Given the description of an element on the screen output the (x, y) to click on. 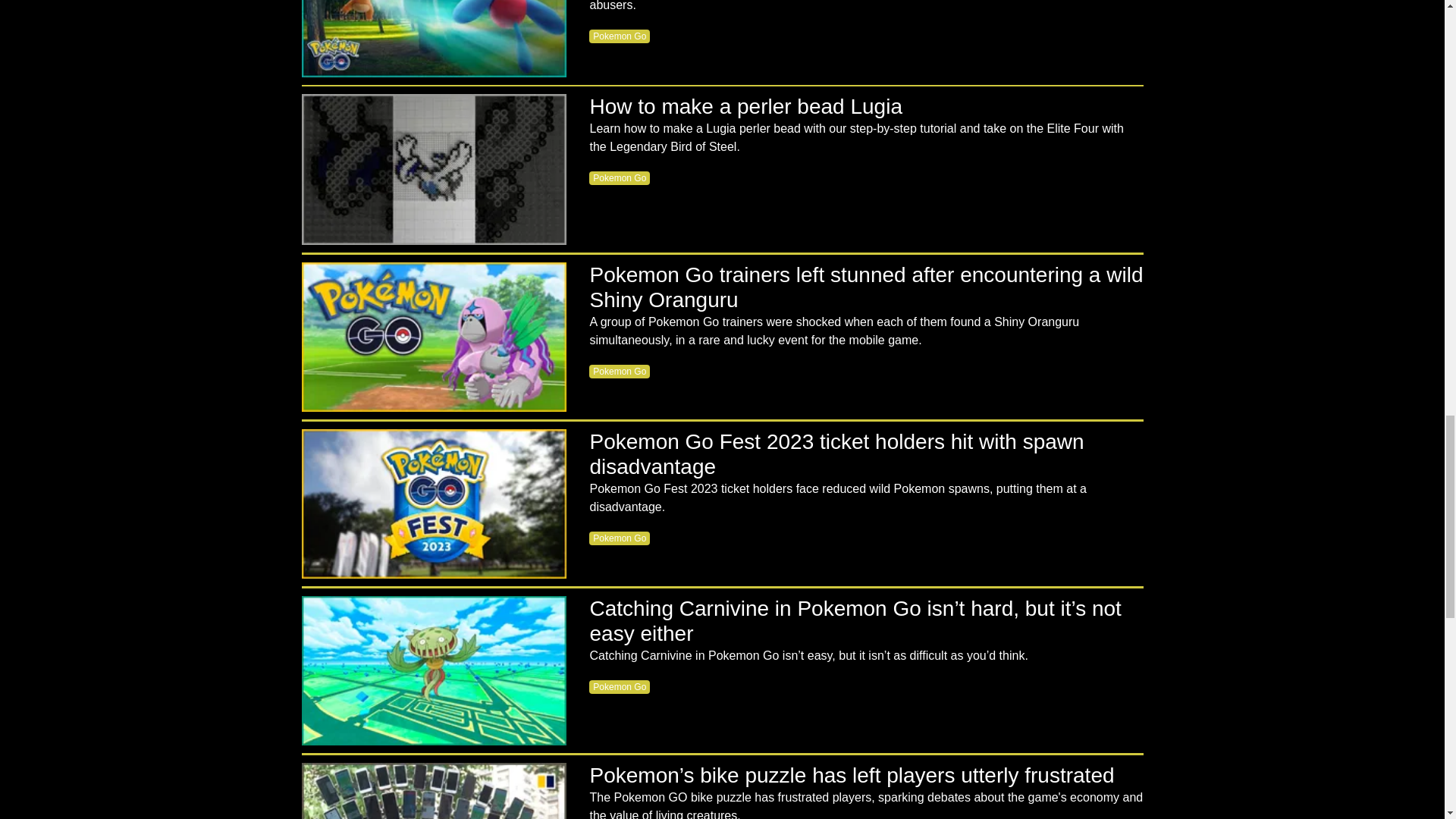
Pokemon Go (619, 371)
Pokemon Go (619, 178)
How to make a perler bead Lugia (434, 169)
Pokemon Go (619, 538)
